Given the description of an element on the screen output the (x, y) to click on. 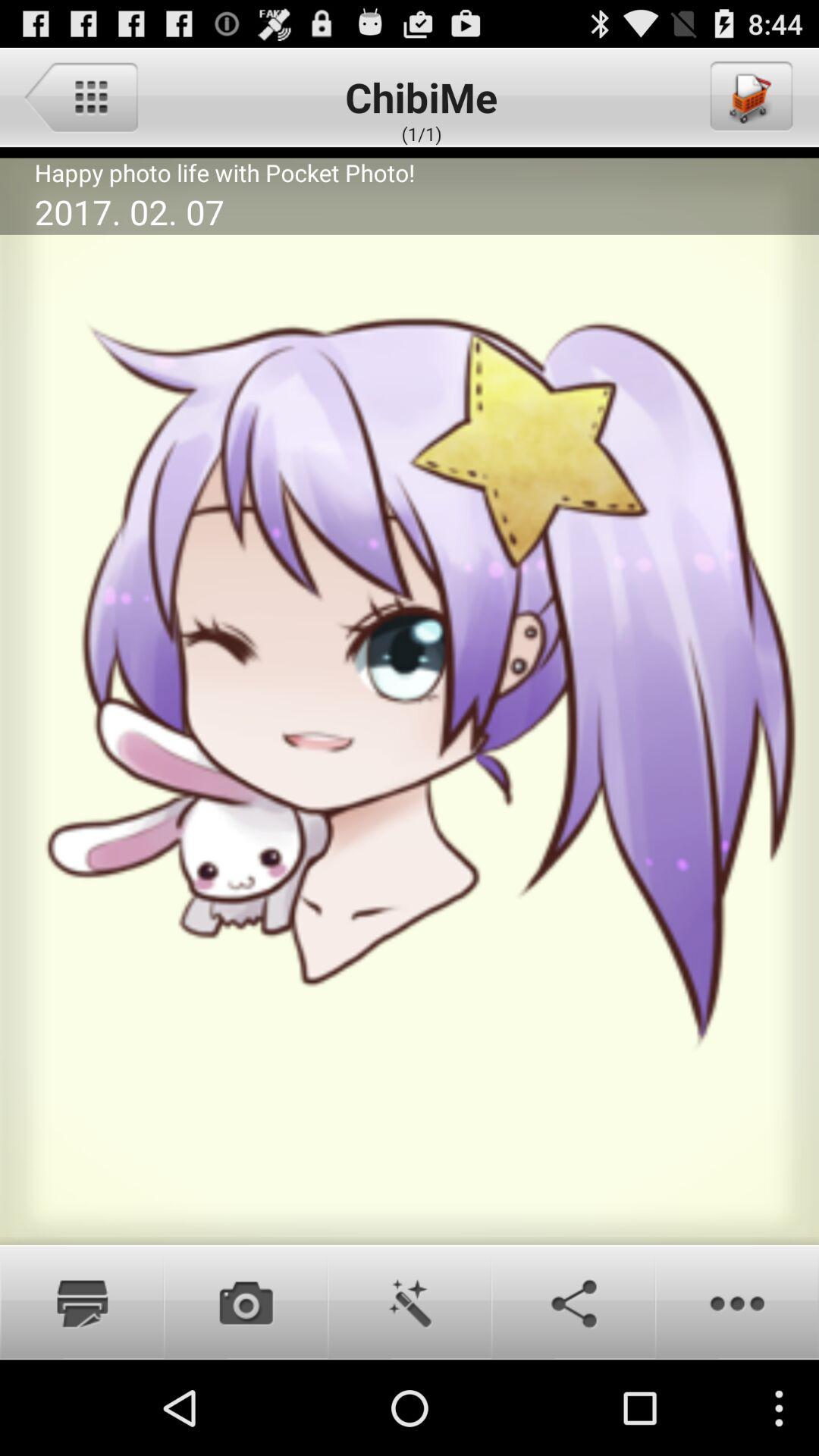
magic select wand (409, 1301)
